Given the description of an element on the screen output the (x, y) to click on. 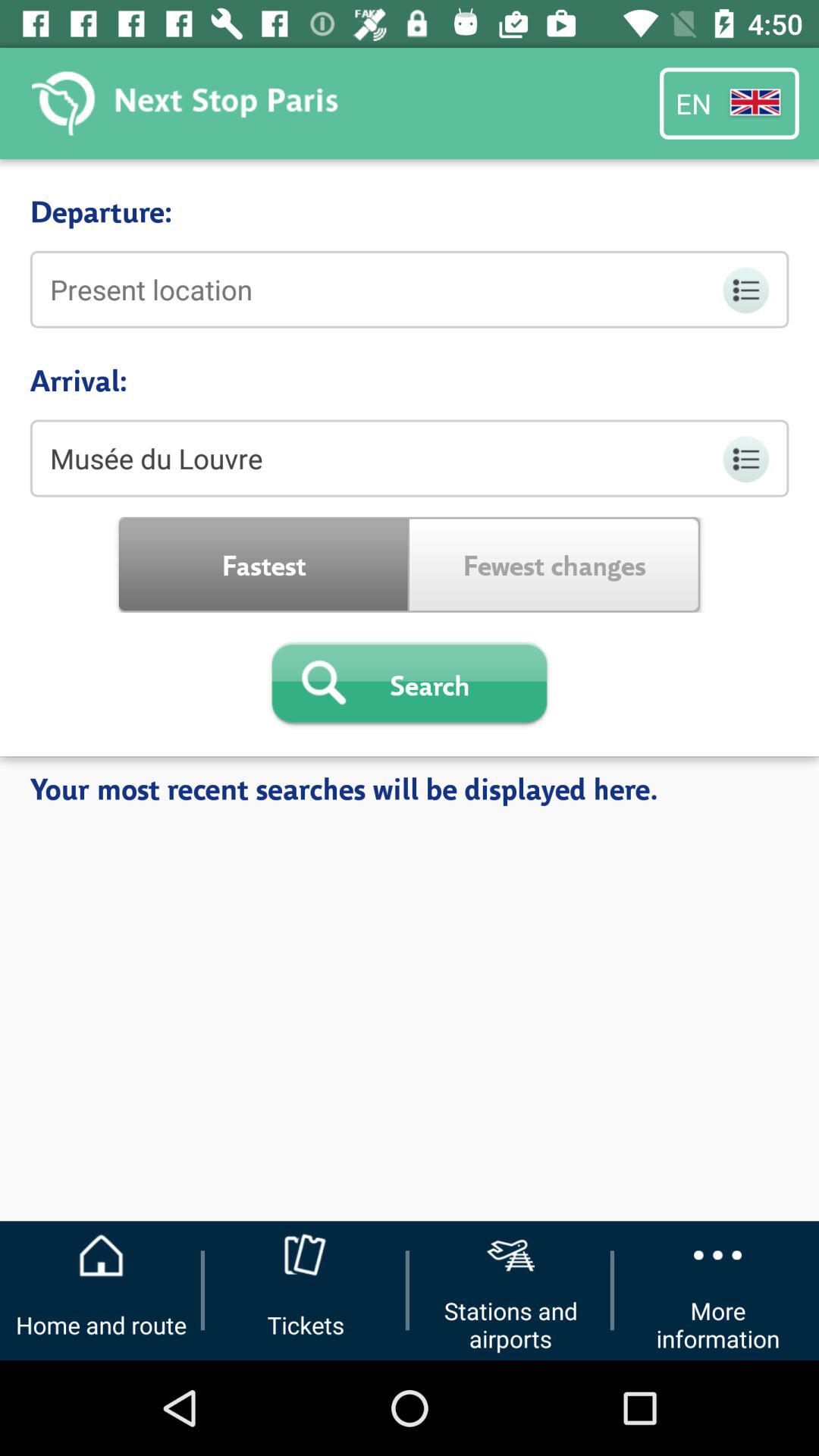
turn on icon above the fastest icon (409, 458)
